Given the description of an element on the screen output the (x, y) to click on. 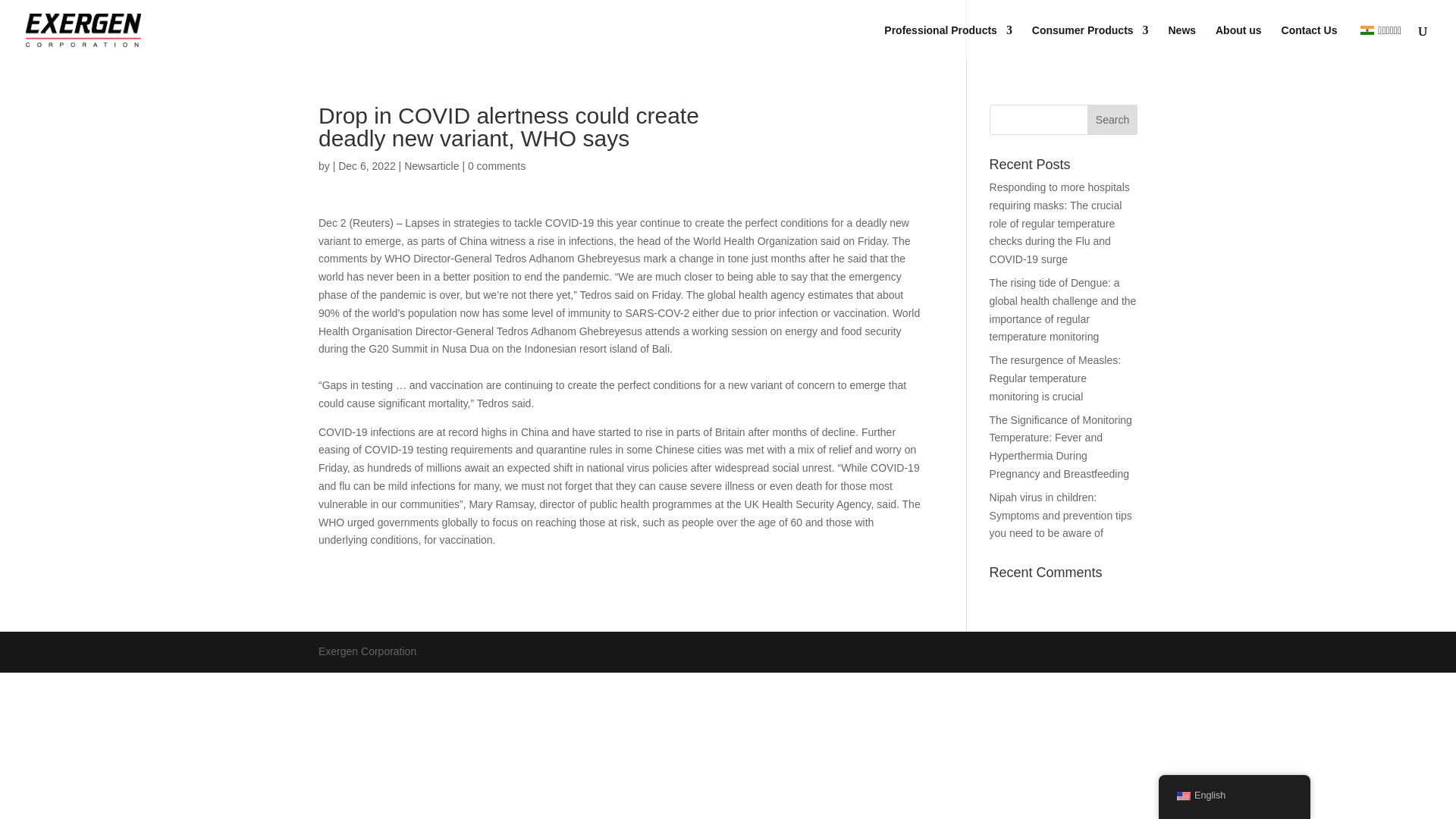
Search (1112, 119)
Consumer Products (1090, 42)
Professional Products (947, 42)
Contact Us (1309, 42)
About us (1238, 42)
